Given the description of an element on the screen output the (x, y) to click on. 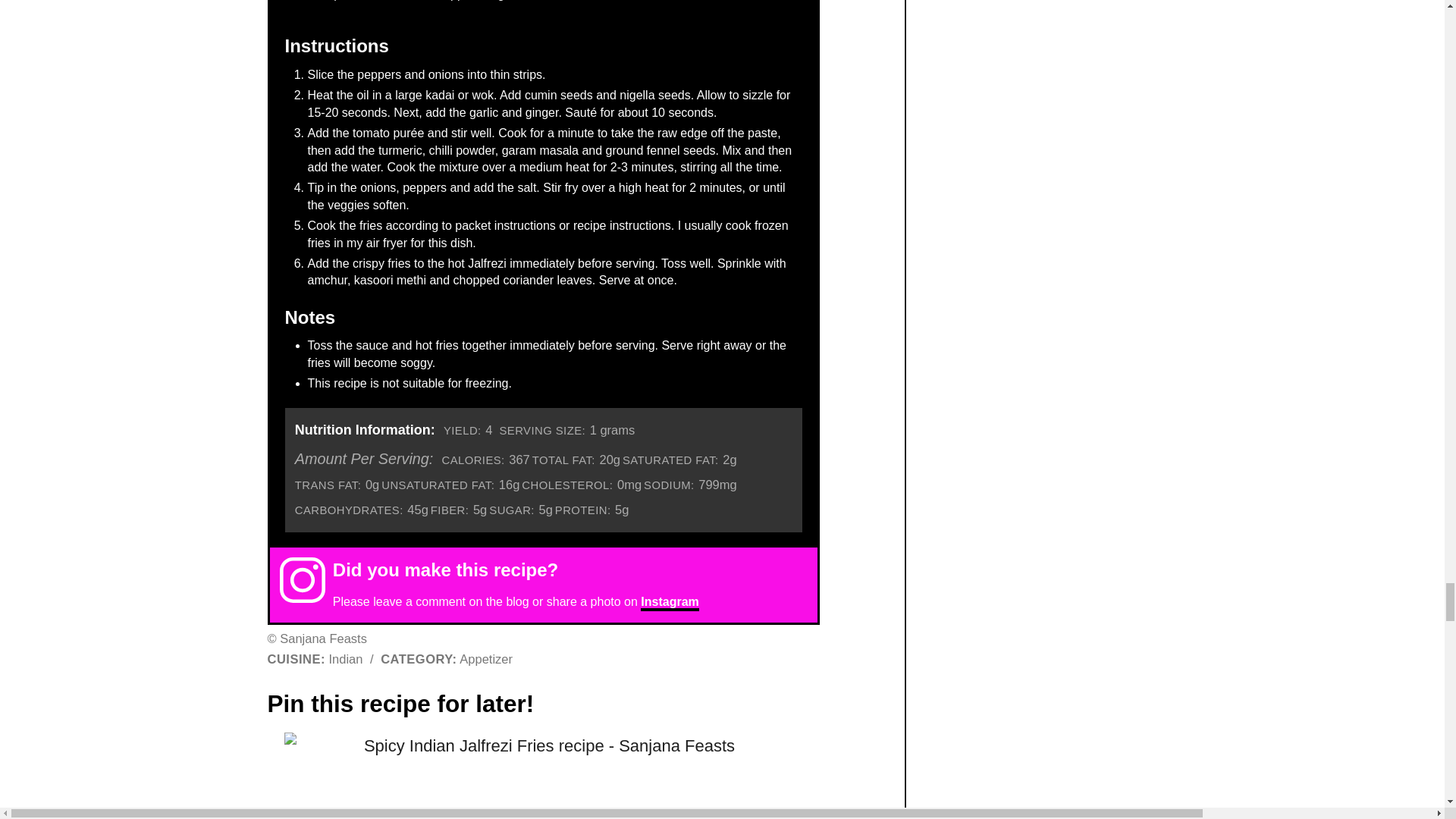
Instagram (669, 602)
